Given the description of an element on the screen output the (x, y) to click on. 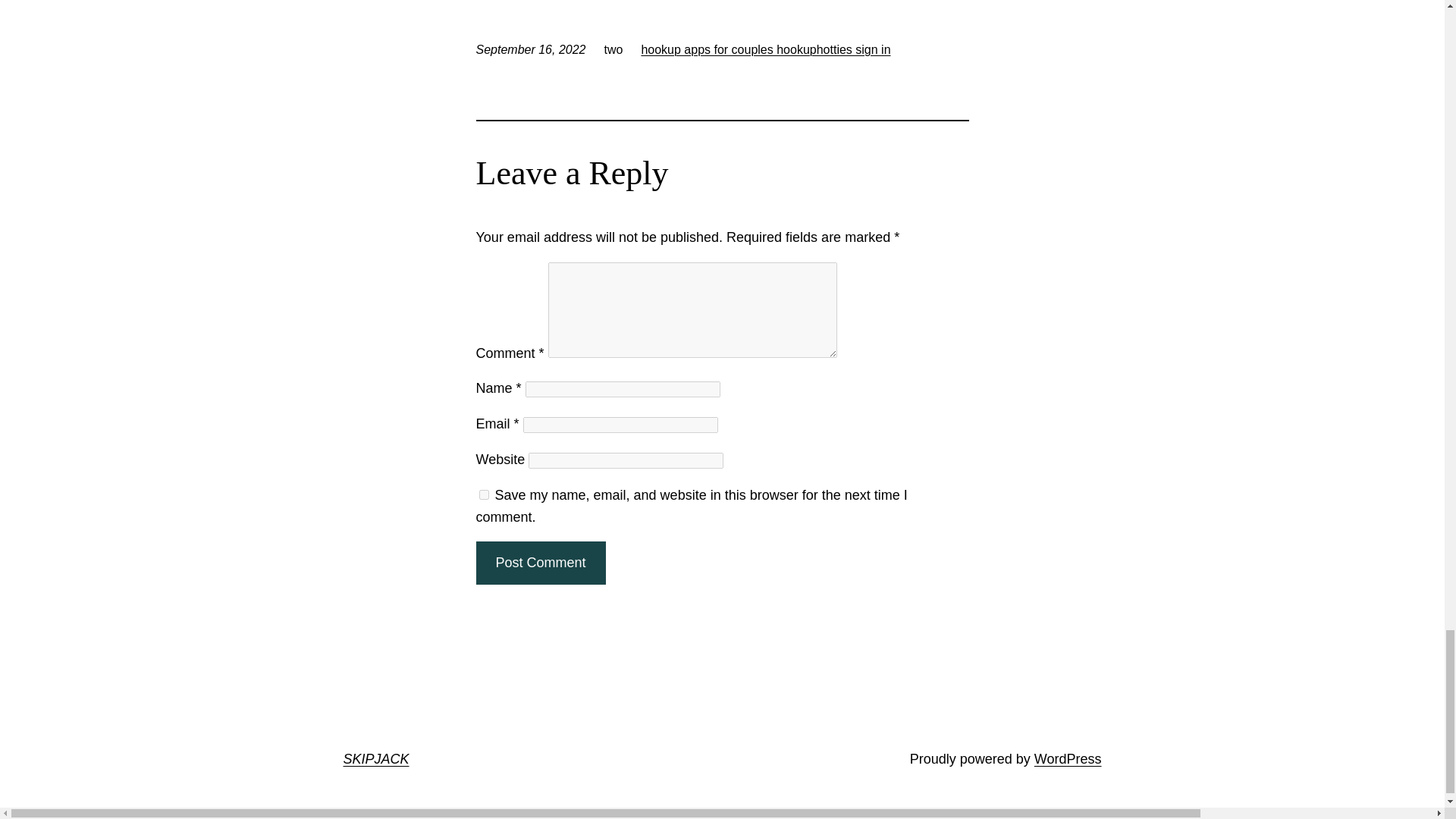
SKIPJACK (375, 758)
hookup apps for couples hookuphotties sign in (764, 49)
yes (484, 494)
WordPress (1067, 758)
Post Comment (540, 562)
Post Comment (540, 562)
